Given the description of an element on the screen output the (x, y) to click on. 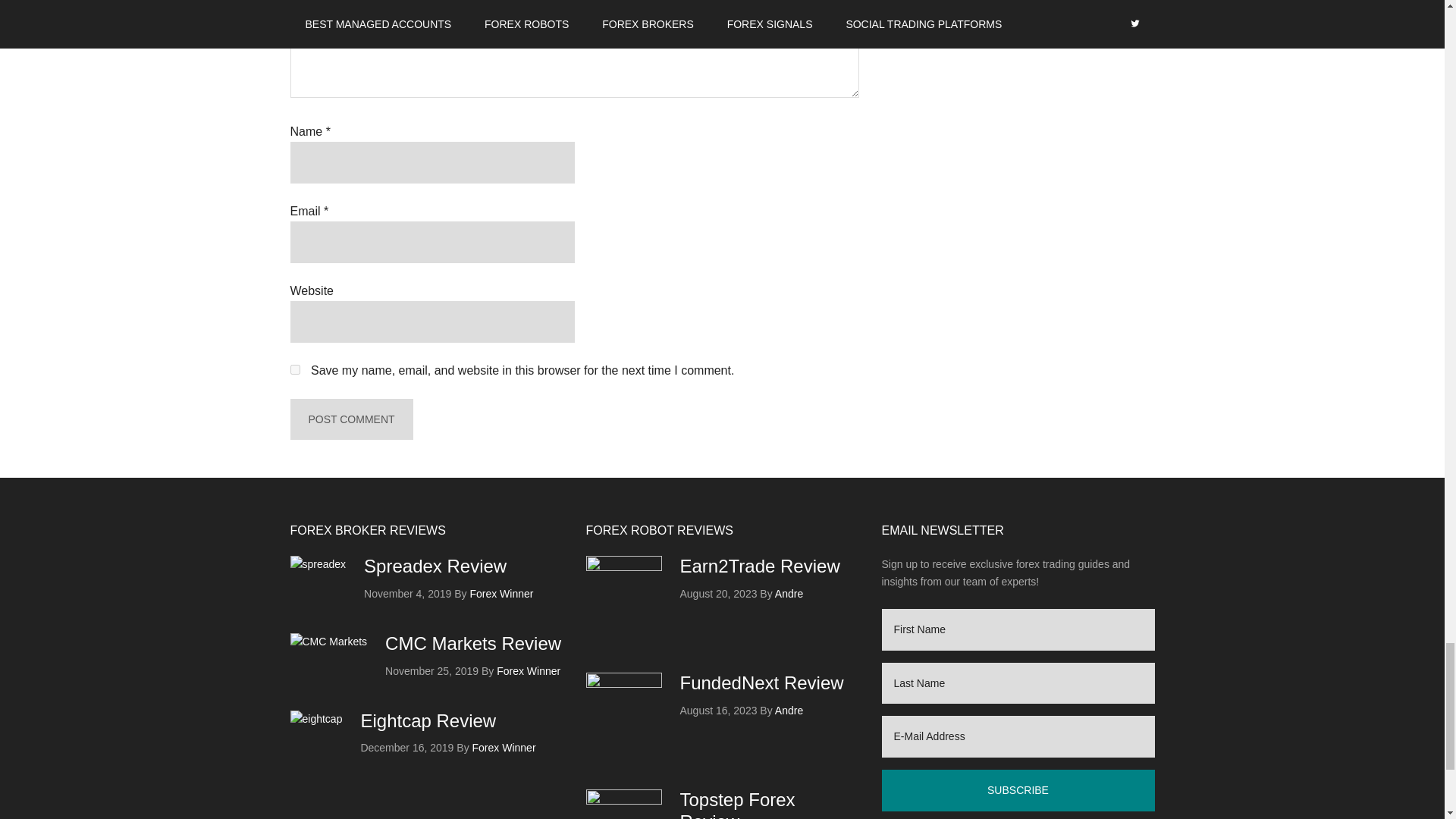
yes (294, 369)
Post Comment (350, 419)
Subscribe (1017, 790)
